Given the description of an element on the screen output the (x, y) to click on. 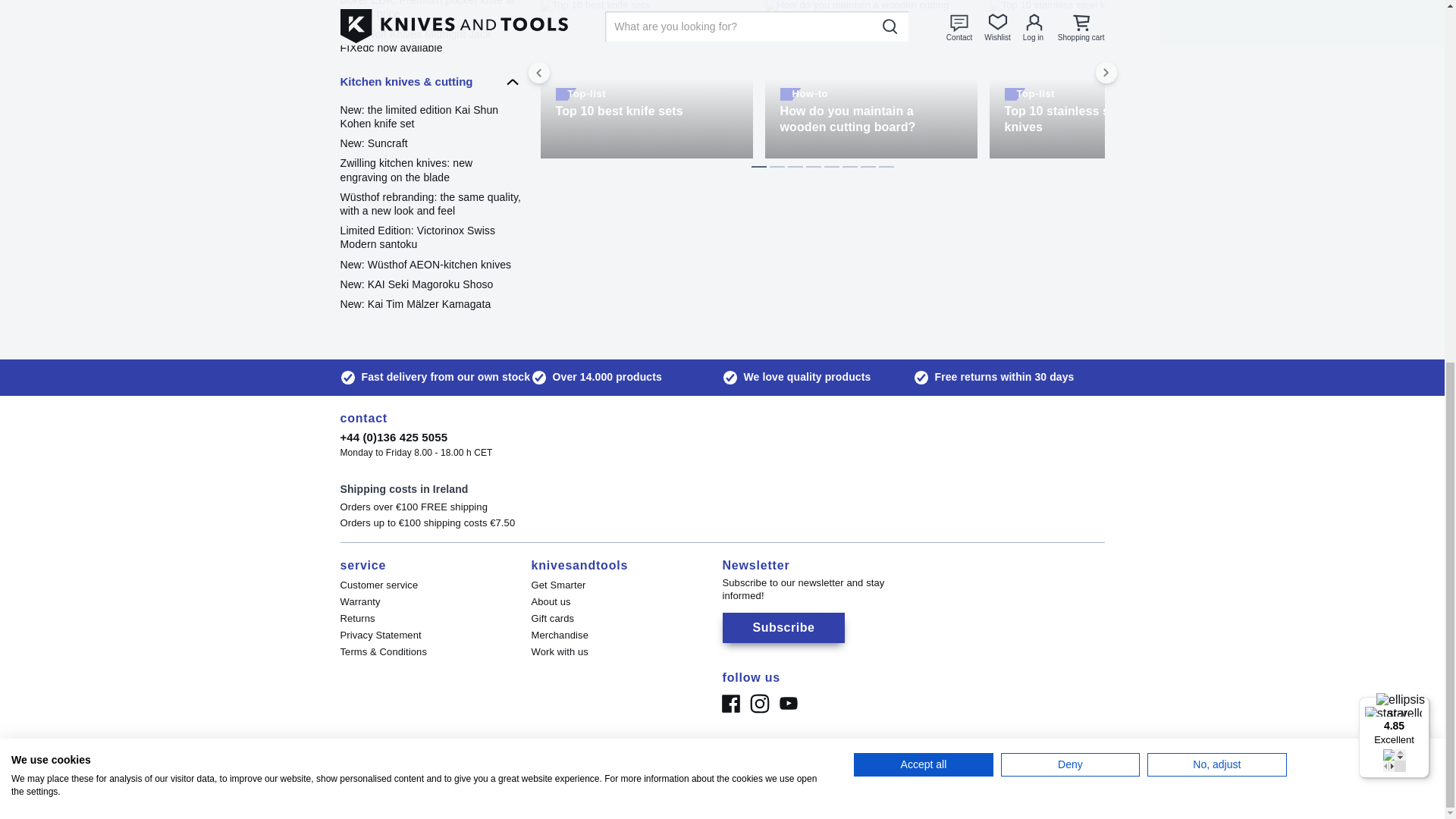
New: the limited edition Kai Shun Kohen knife set (430, 116)
Jack Wolf Knives Midnight Jack FIXedc now available (430, 40)
Instagram (758, 703)
Facebook (730, 703)
Youtube (787, 703)
